Given the description of an element on the screen output the (x, y) to click on. 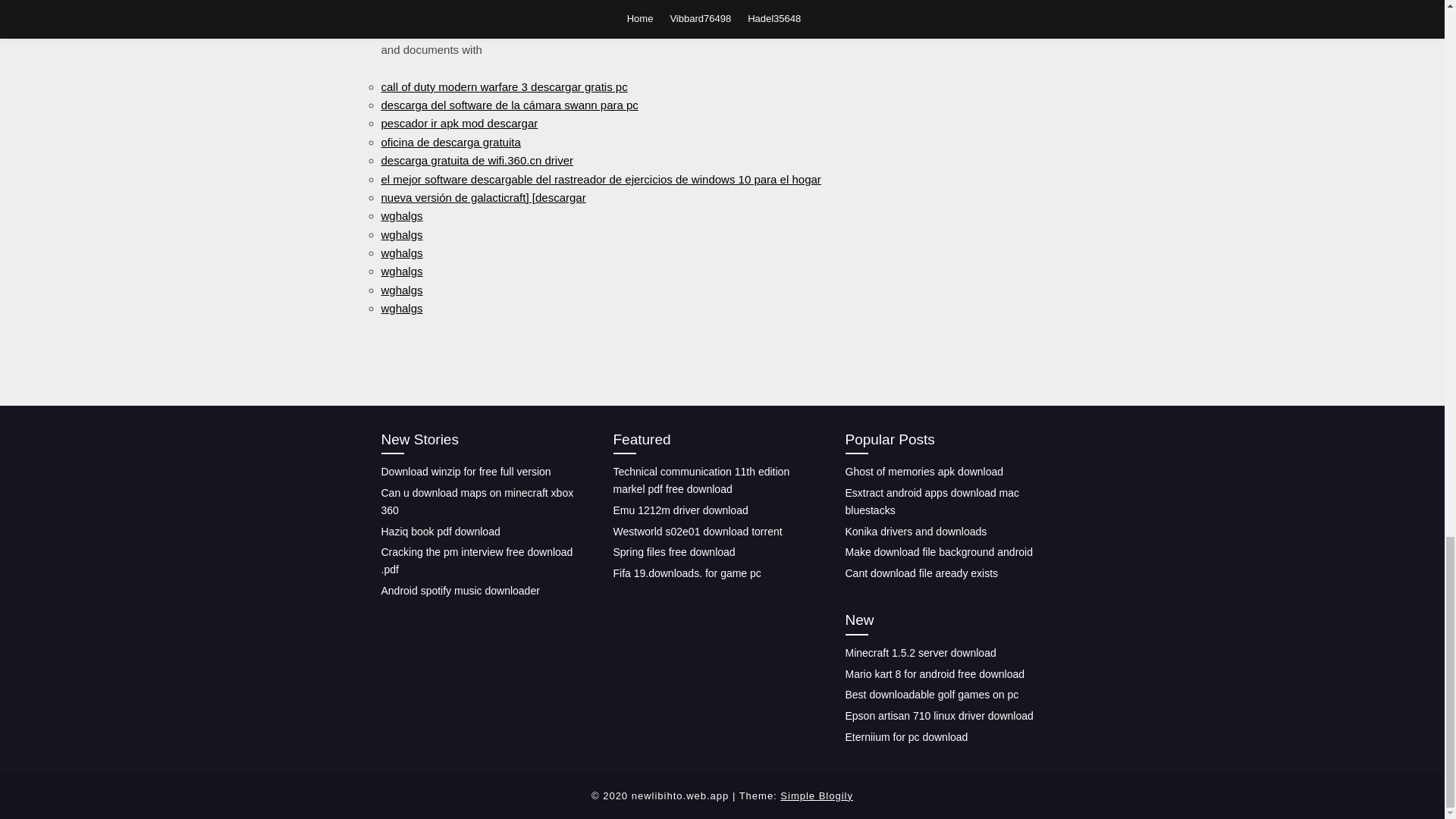
Westworld s02e01 download torrent (696, 531)
call of duty modern warfare 3 descargar gratis pc (503, 86)
Best downloadable golf games on pc (930, 694)
wghalgs (401, 308)
oficina de descarga gratuita (449, 141)
pescador ir apk mod descargar (458, 123)
Download winzip for free full version (465, 471)
Epson artisan 710 linux driver download (938, 715)
Emu 1212m driver download (680, 510)
Esxtract android apps download mac bluestacks (931, 501)
Can u download maps on minecraft xbox 360 (476, 501)
Android spotify music downloader (459, 590)
Cracking the pm interview free download .pdf (476, 560)
Spring files free download (673, 551)
